Given the description of an element on the screen output the (x, y) to click on. 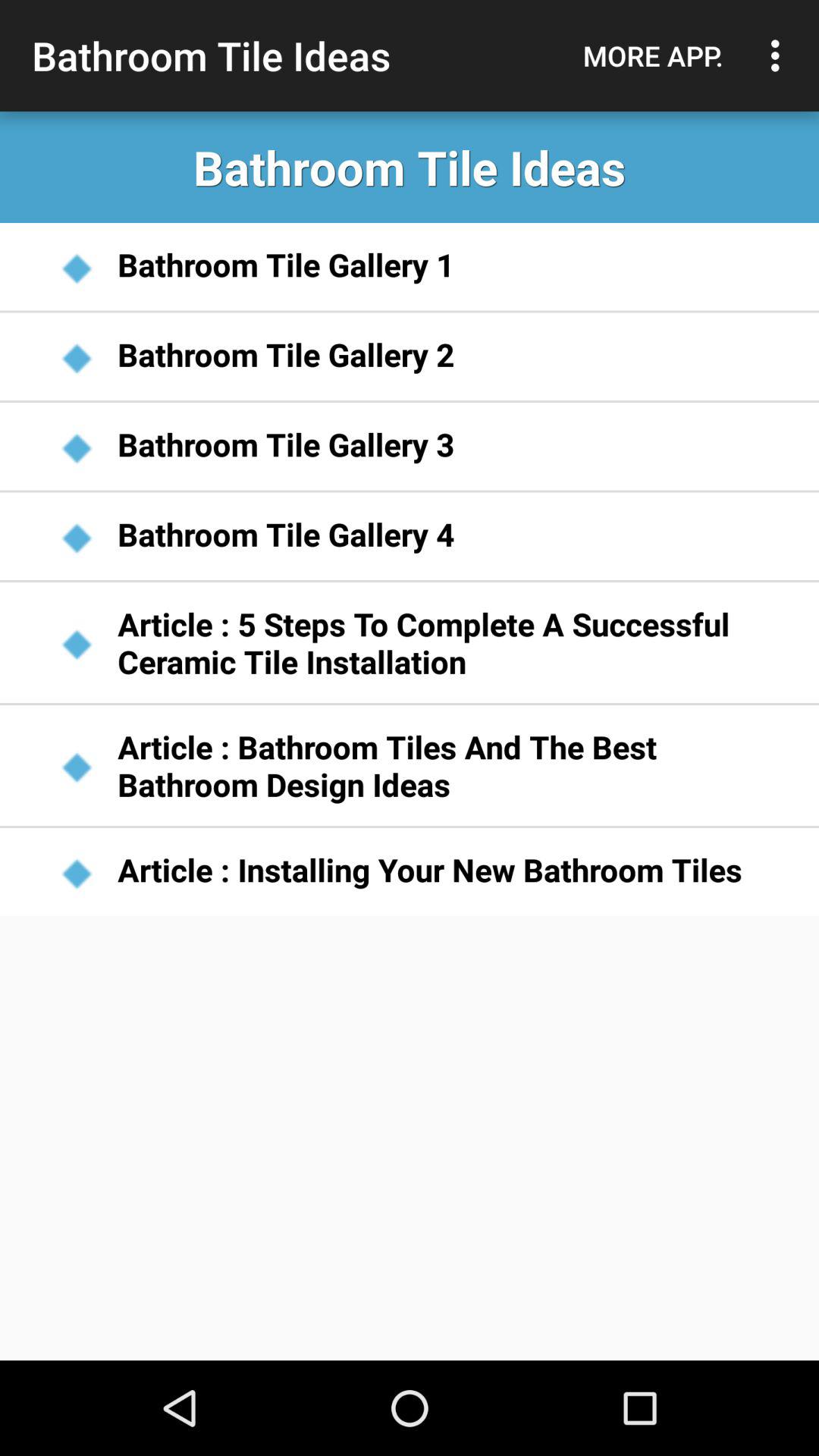
turn on the app above bathroom tile ideas icon (779, 55)
